Given the description of an element on the screen output the (x, y) to click on. 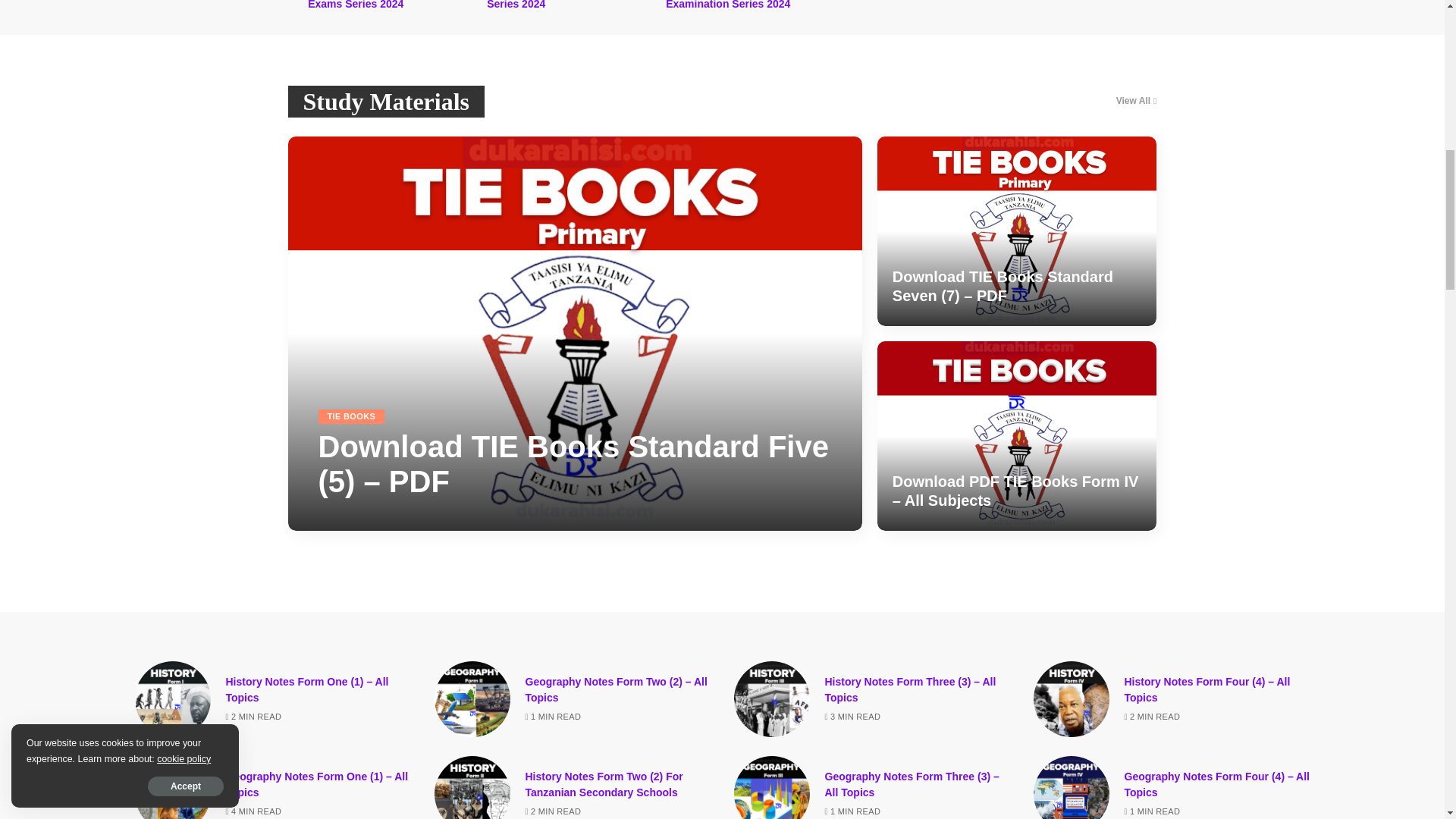
Study Materials (386, 101)
View All (1136, 100)
